Given the description of an element on the screen output the (x, y) to click on. 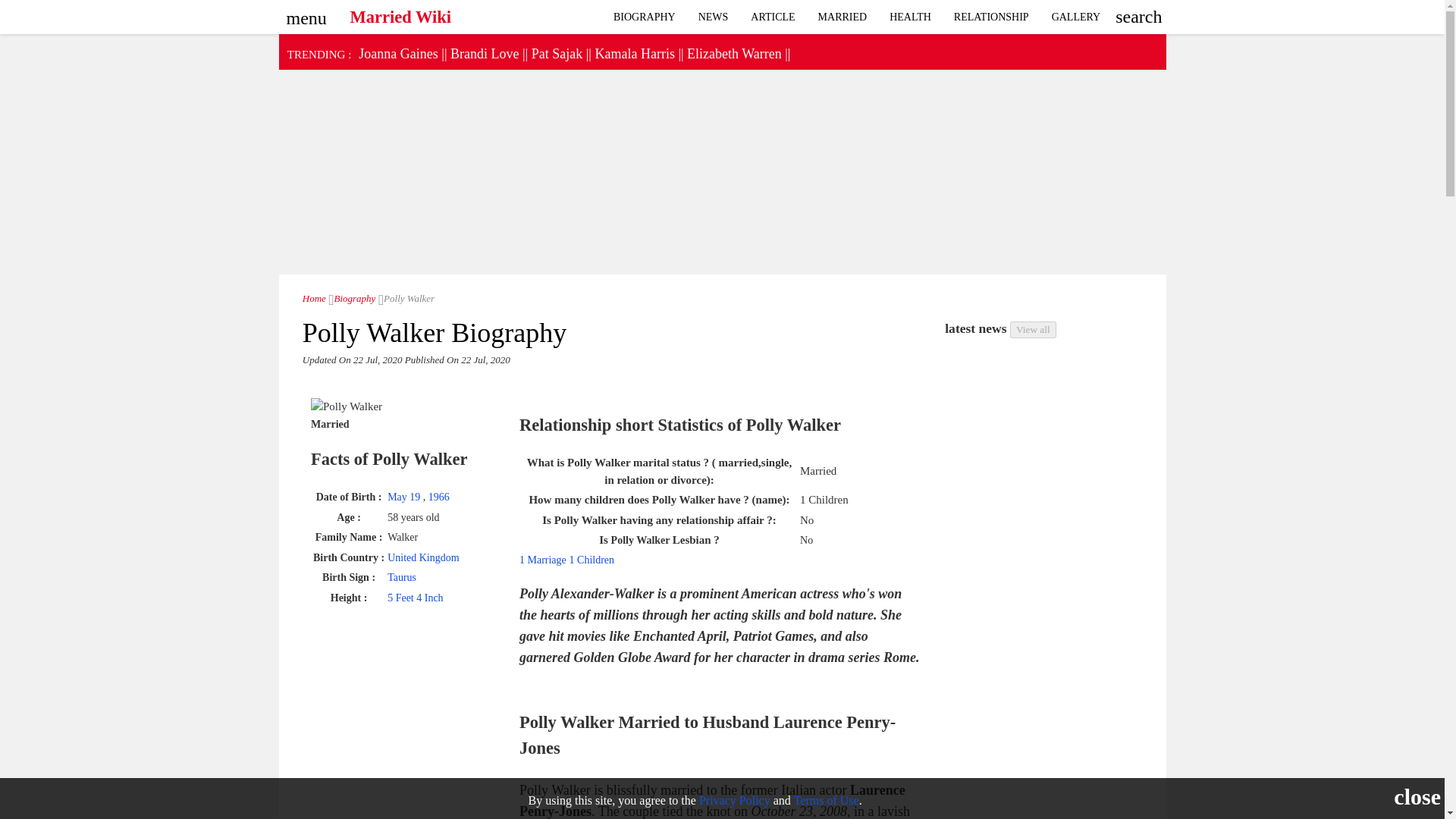
Taurus (401, 577)
RELATIONSHIP (991, 17)
News (713, 17)
GALLERY (1076, 17)
5 Feet 4 Inch (414, 597)
Pat Sajak (557, 53)
Elizabeth Warren (734, 53)
Married Wiki (314, 297)
Kamala Harris (634, 53)
United Kingdom (423, 557)
